Given the description of an element on the screen output the (x, y) to click on. 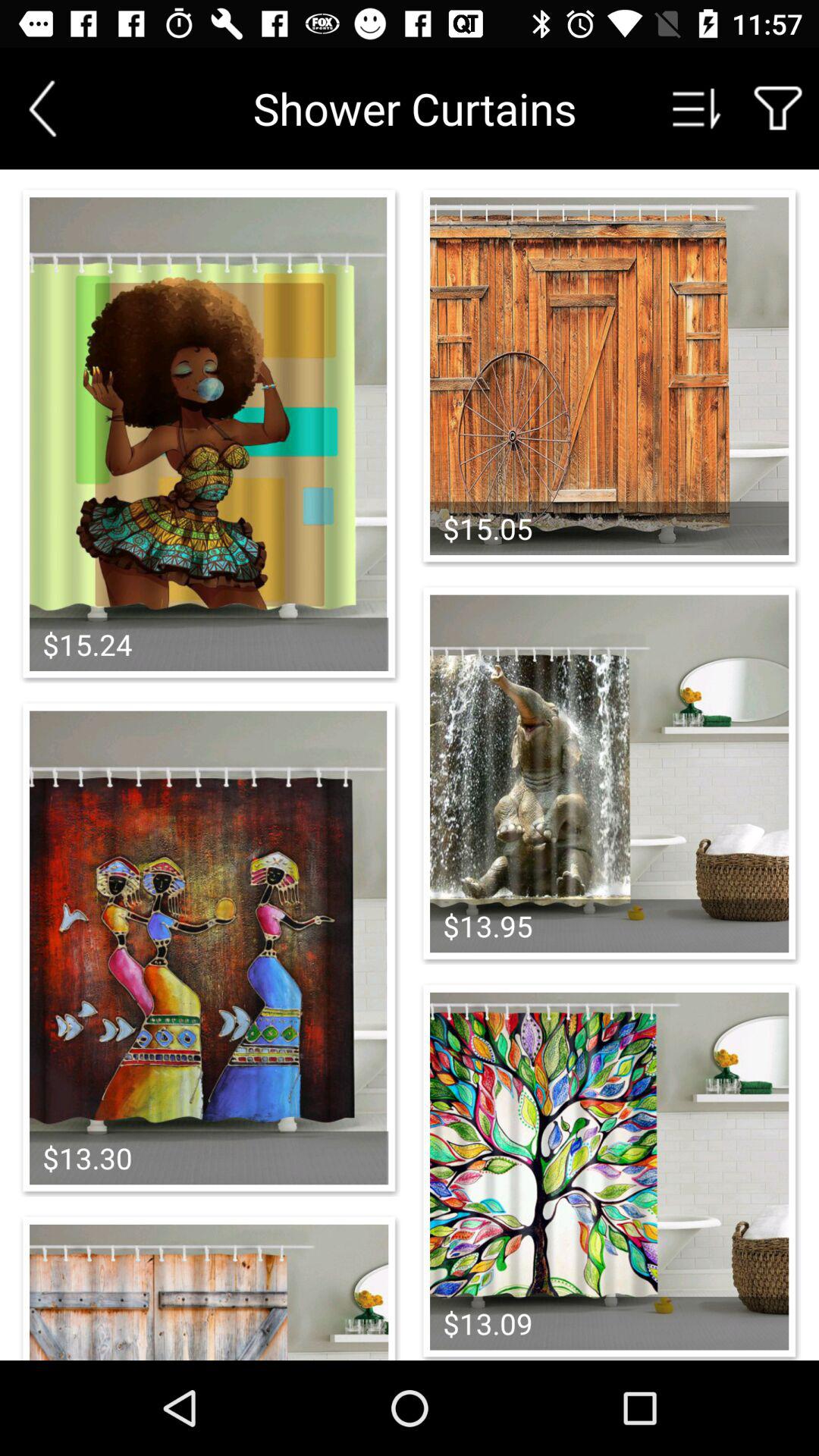
back button (42, 108)
